Given the description of an element on the screen output the (x, y) to click on. 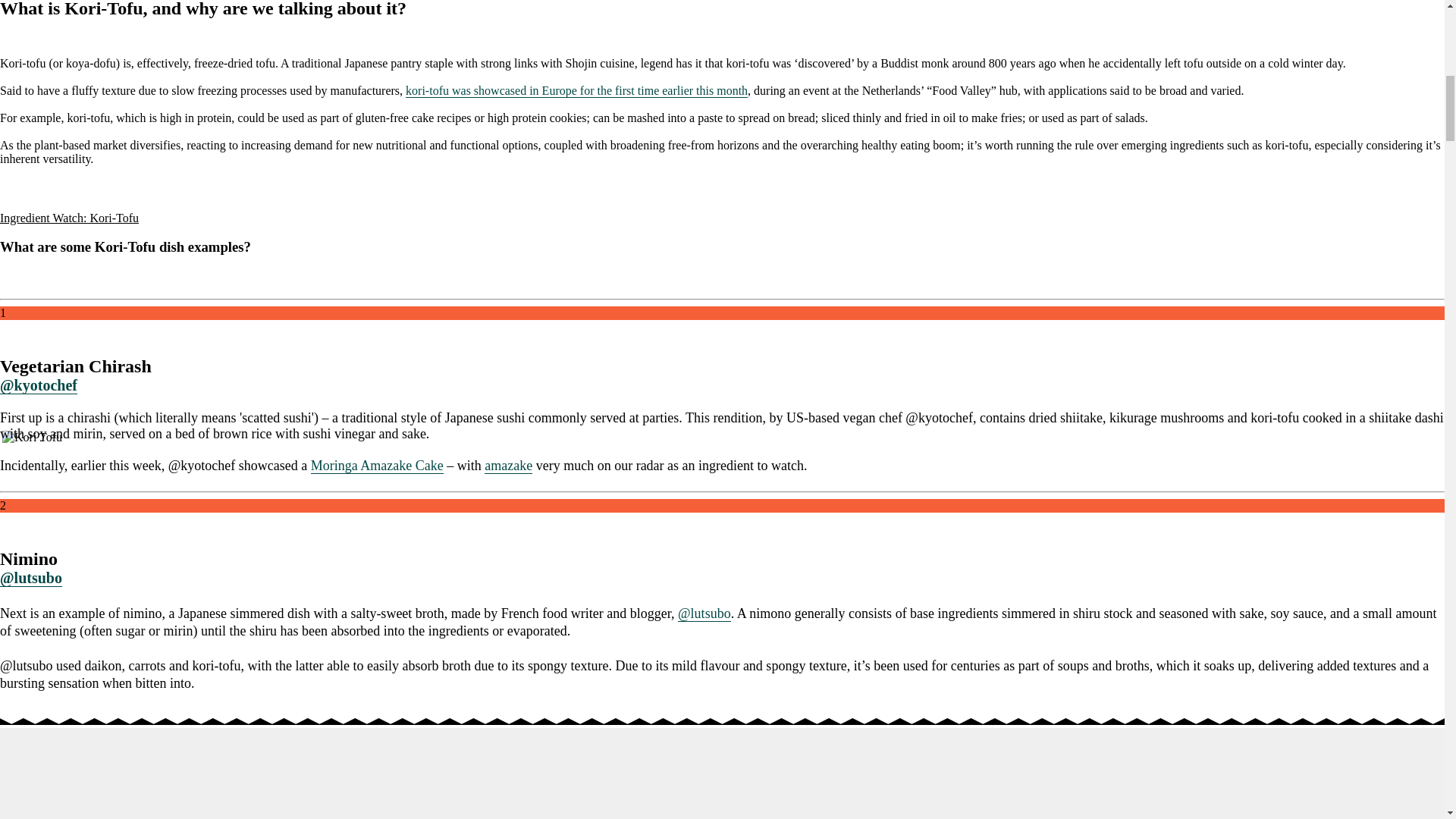
Moringa Amazake Cake (377, 465)
amazake (508, 465)
